Given the description of an element on the screen output the (x, y) to click on. 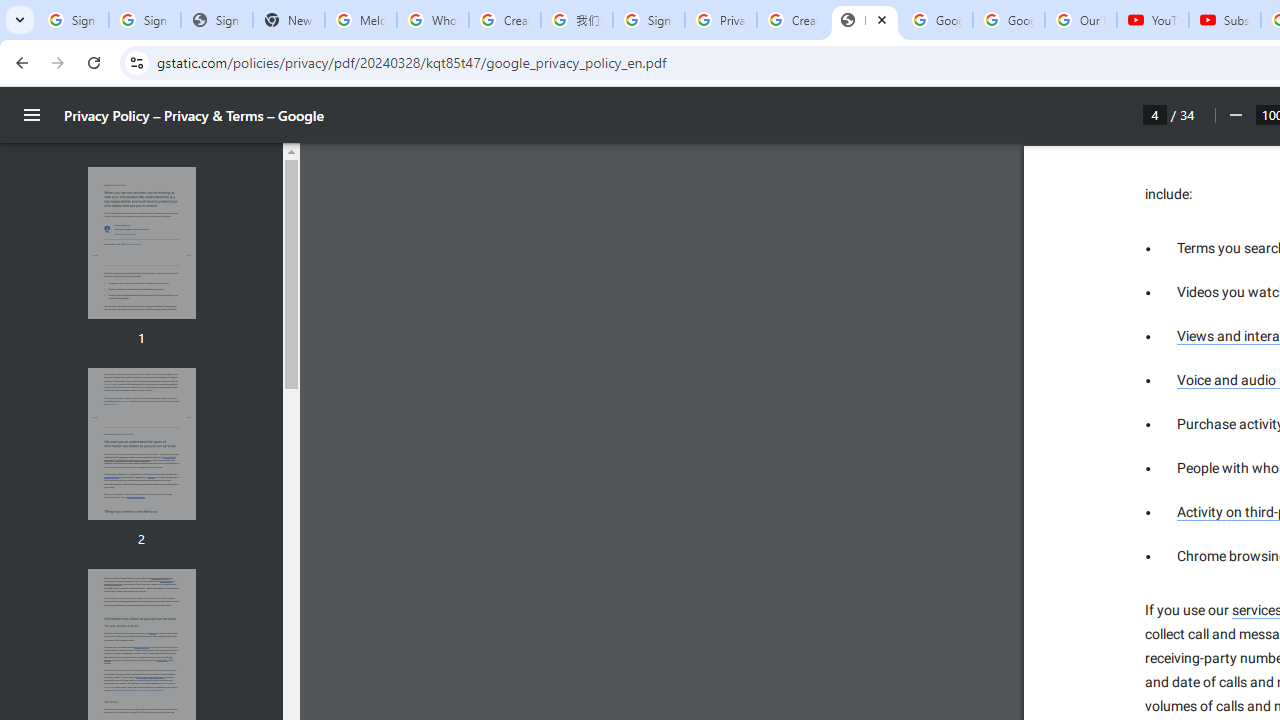
New Tab (289, 20)
